Given the description of an element on the screen output the (x, y) to click on. 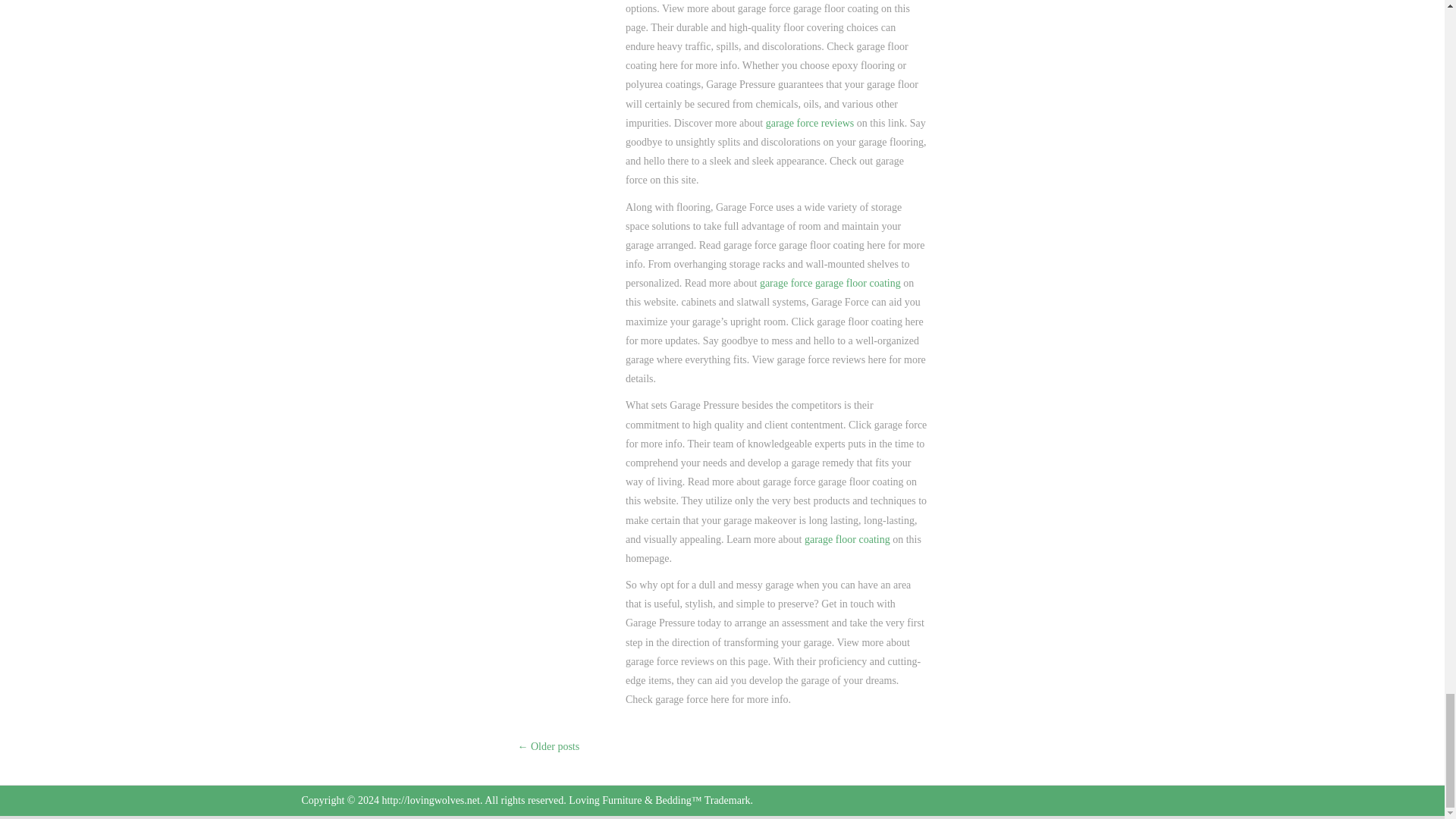
garage force garage floor coating (830, 283)
garage force reviews (809, 122)
garage floor coating (847, 539)
